Given the description of an element on the screen output the (x, y) to click on. 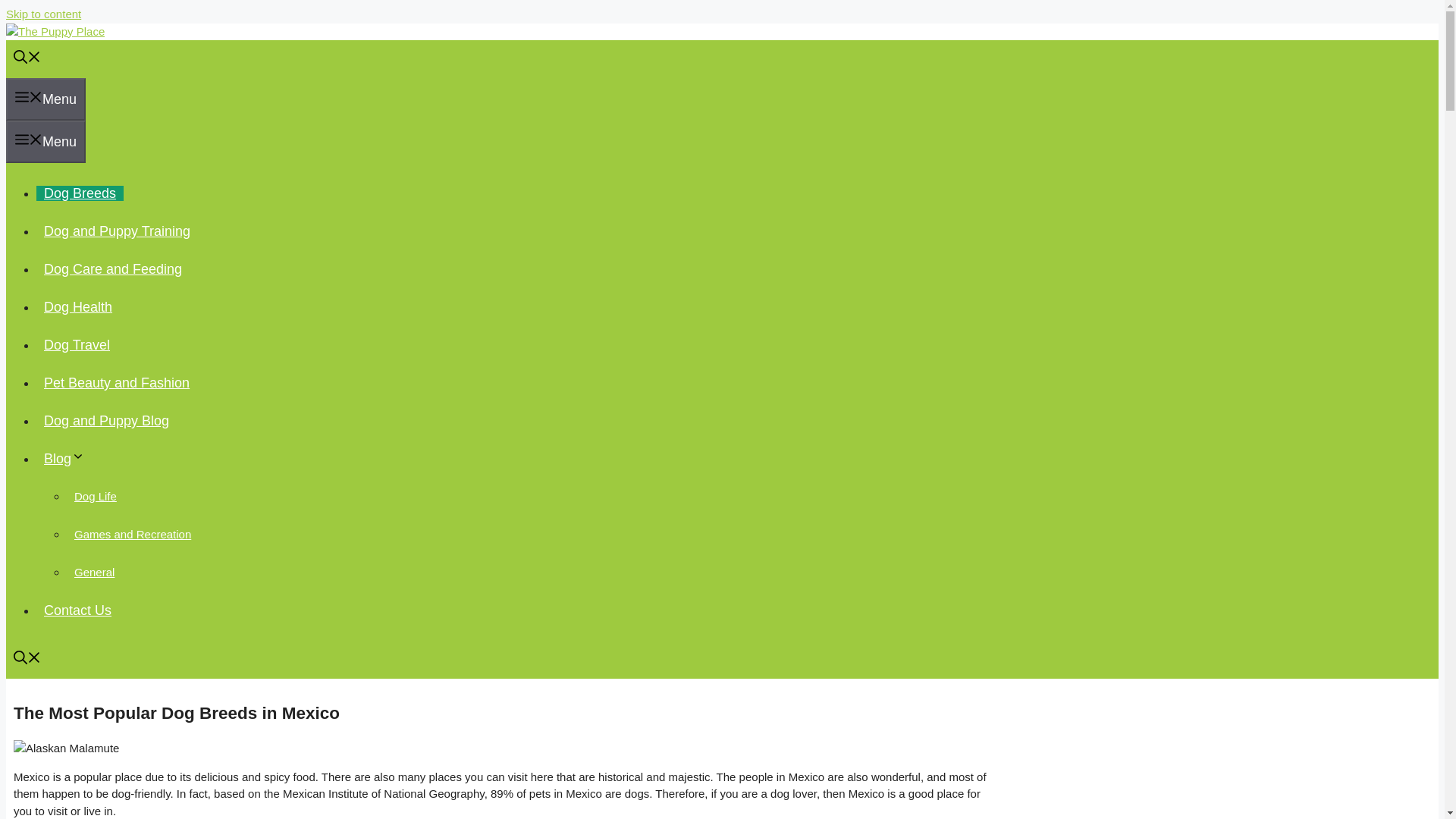
Dog Care and Feeding (112, 268)
Dog and Puppy Blog (106, 420)
Dog Health (77, 306)
Skip to content (43, 13)
Dog and Puppy Training (117, 231)
Dog Breeds (79, 192)
General (94, 571)
Contact Us (77, 610)
Dog Life (94, 496)
Menu (45, 98)
